Given the description of an element on the screen output the (x, y) to click on. 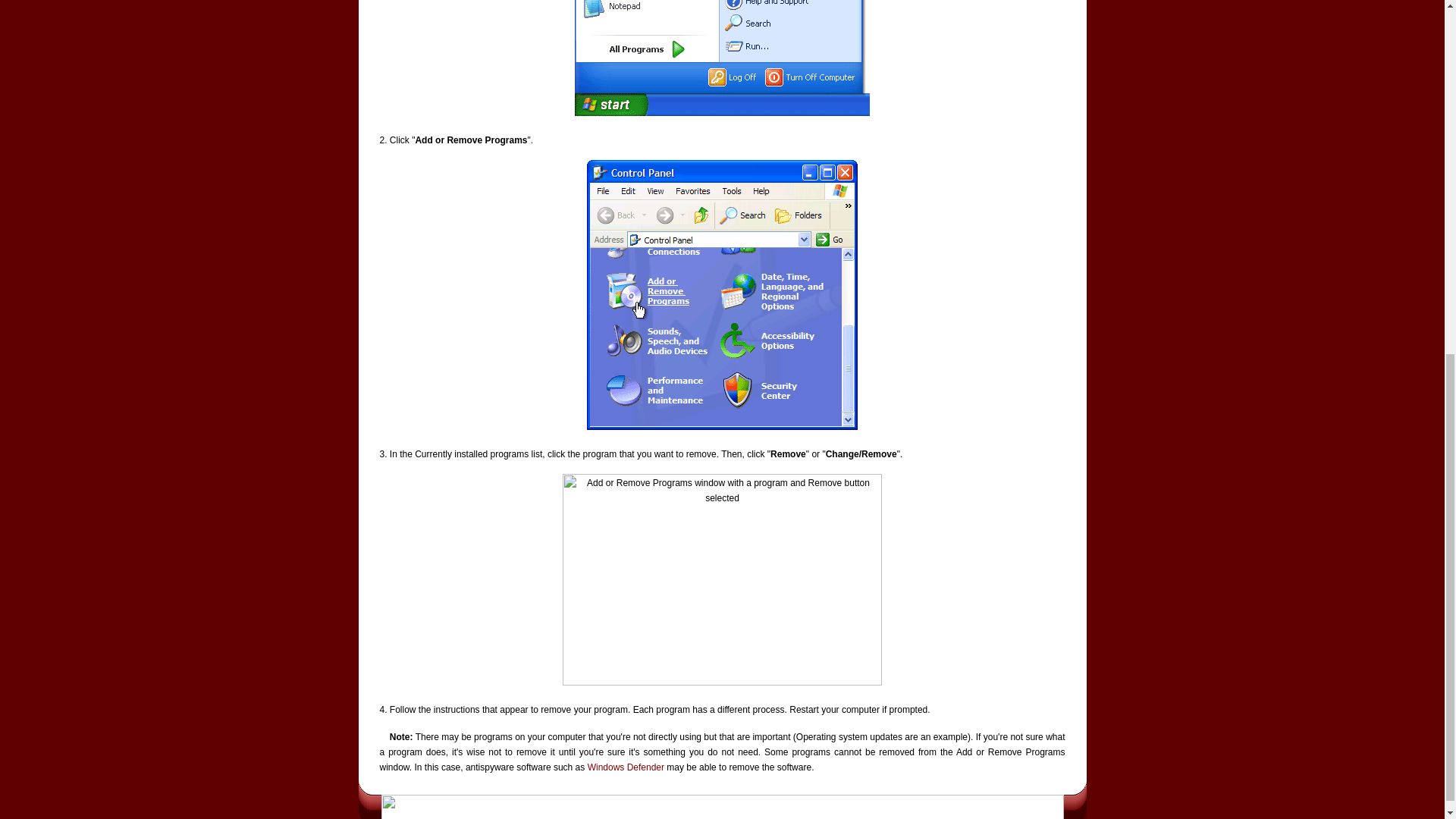
Windows Defender (625, 767)
Control Panel with Add or Remove Programs icon selected (721, 294)
Start menu with Control Panel selected (722, 58)
